Given the description of an element on the screen output the (x, y) to click on. 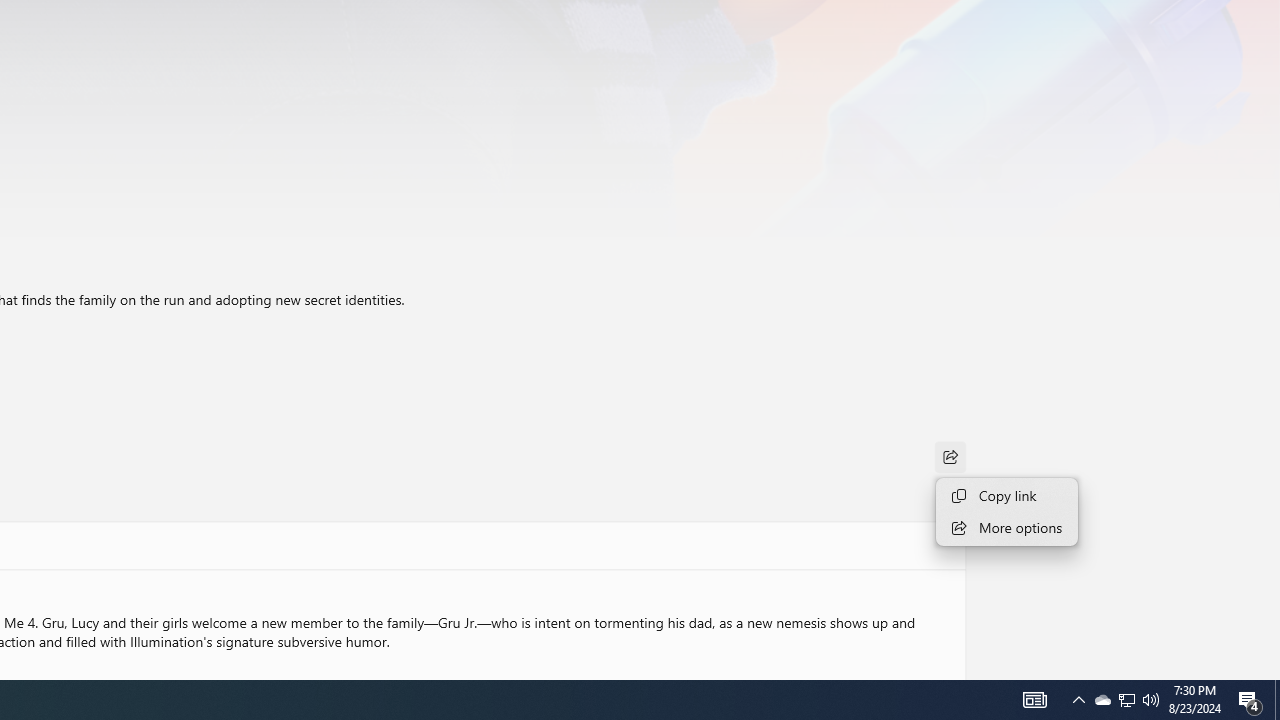
Share (950, 456)
